Given the description of an element on the screen output the (x, y) to click on. 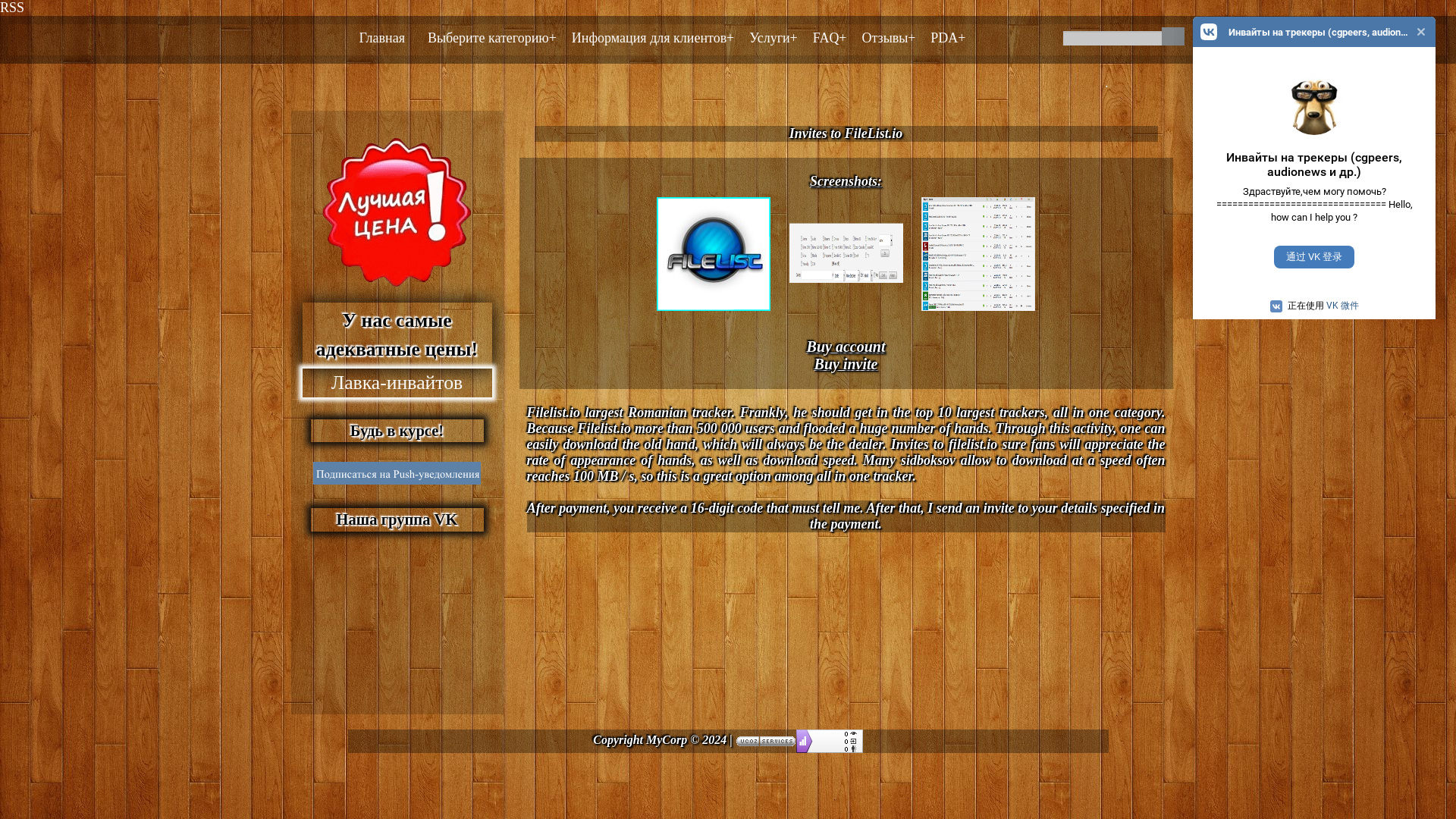
RSS (12, 7)
Click to enlarge (978, 313)
Click to enlarge (713, 313)
Back to the choice of payment method (845, 346)
Click to enlarge (845, 313)
